Given the description of an element on the screen output the (x, y) to click on. 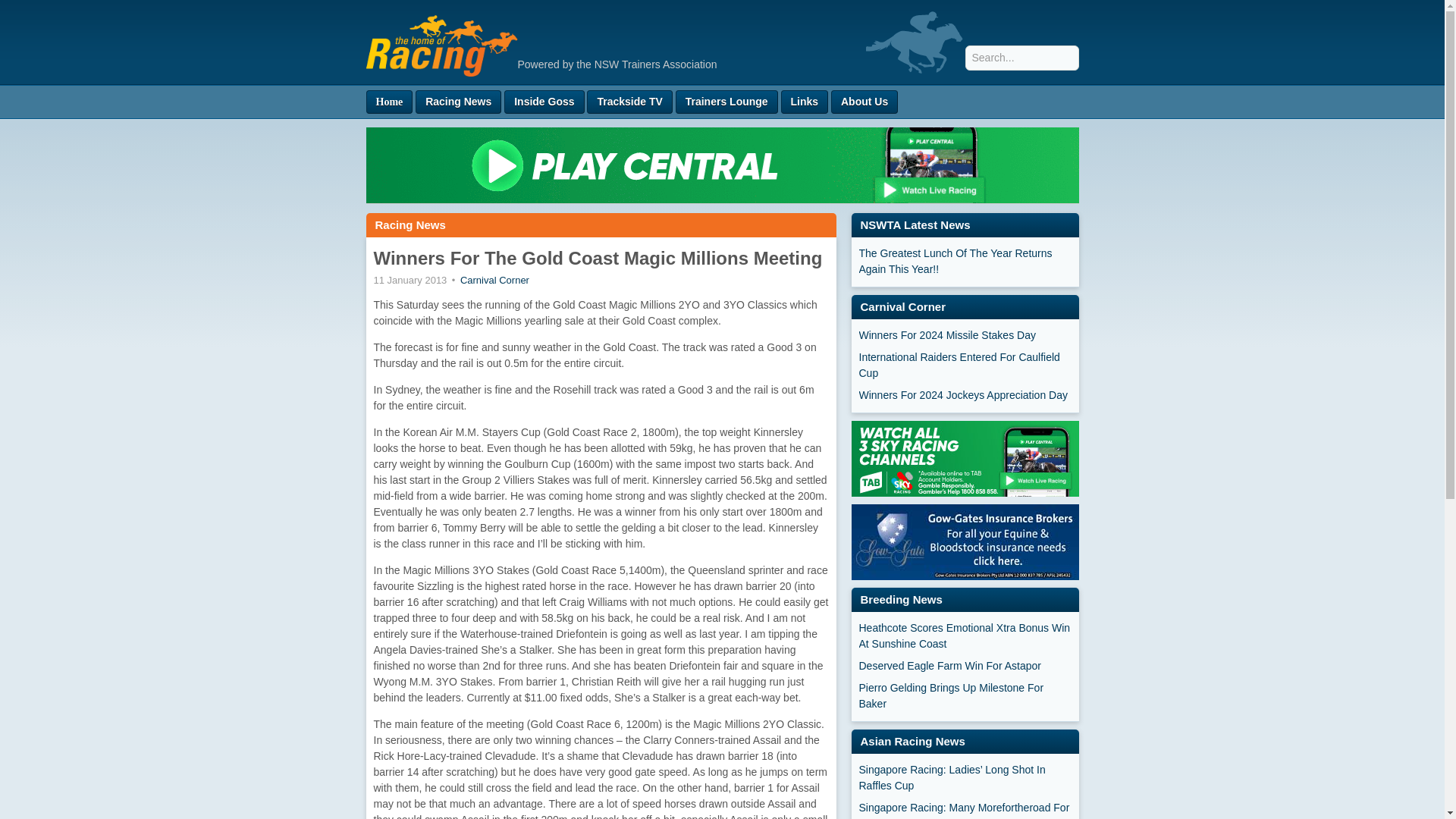
Heathcote Scores Emotional Xtra Bonus Win At Sunshine Coast (964, 635)
Home (388, 101)
Trackside TV (628, 101)
About Us (864, 101)
Racing News (457, 101)
Carnival Corner (902, 306)
Pierro Gelding Brings Up Milestone For Baker (964, 695)
Winners For 2024 Missile Stakes Day (964, 335)
Asian Racing News (911, 740)
Carnival Corner (494, 279)
